Given the description of an element on the screen output the (x, y) to click on. 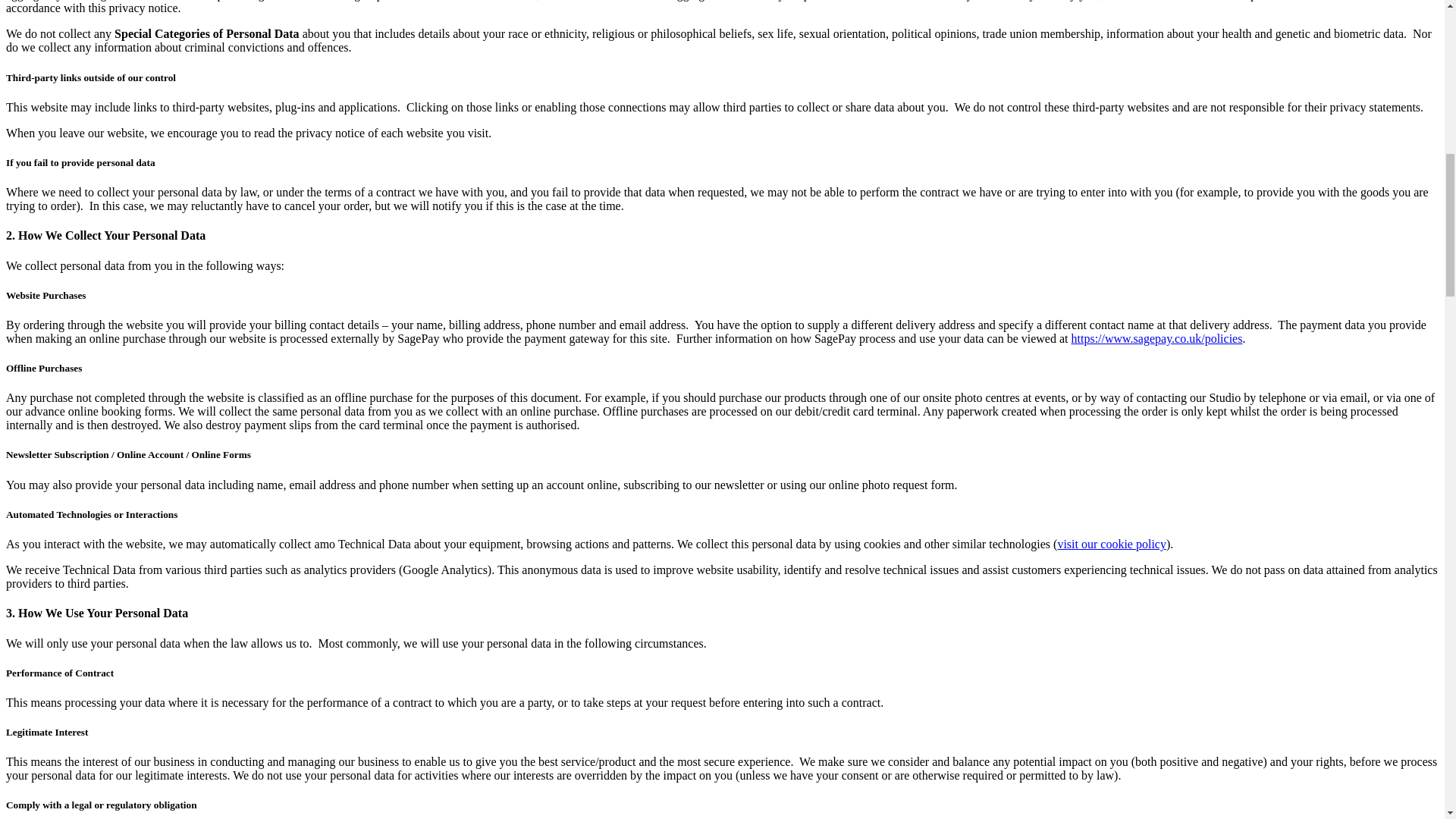
visit our cookie policy (1111, 543)
